Given the description of an element on the screen output the (x, y) to click on. 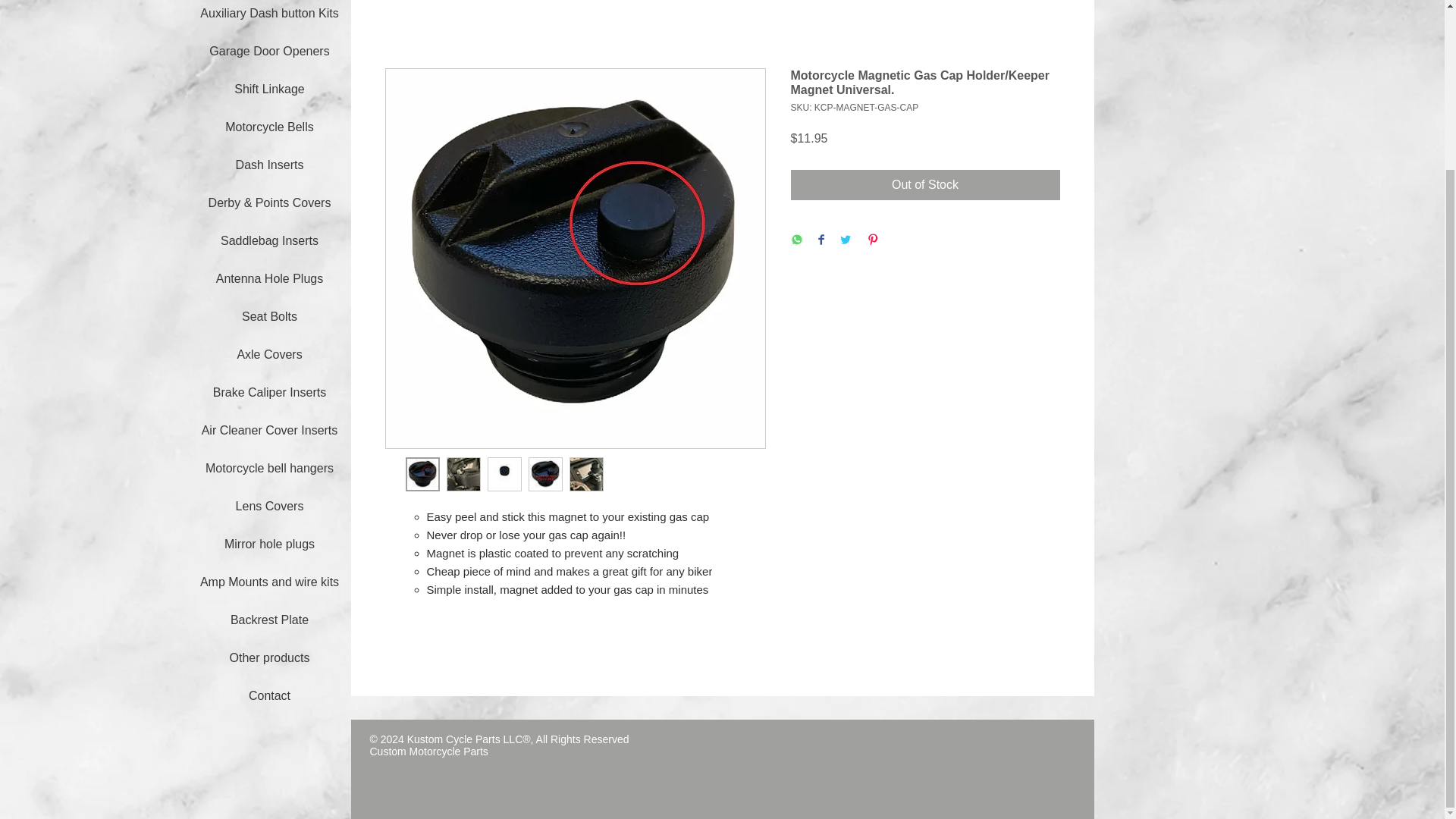
Motorcycle Bells (269, 126)
Air Cleaner Cover Inserts (269, 430)
Antenna Hole Plugs (269, 278)
Seat Bolts (269, 316)
Contact (269, 695)
Auxiliary Dash button Kits (269, 13)
Other products (269, 657)
Dash Inserts (269, 164)
Garage Door Openers (269, 50)
Amp Mounts and wire kits (269, 582)
